Given the description of an element on the screen output the (x, y) to click on. 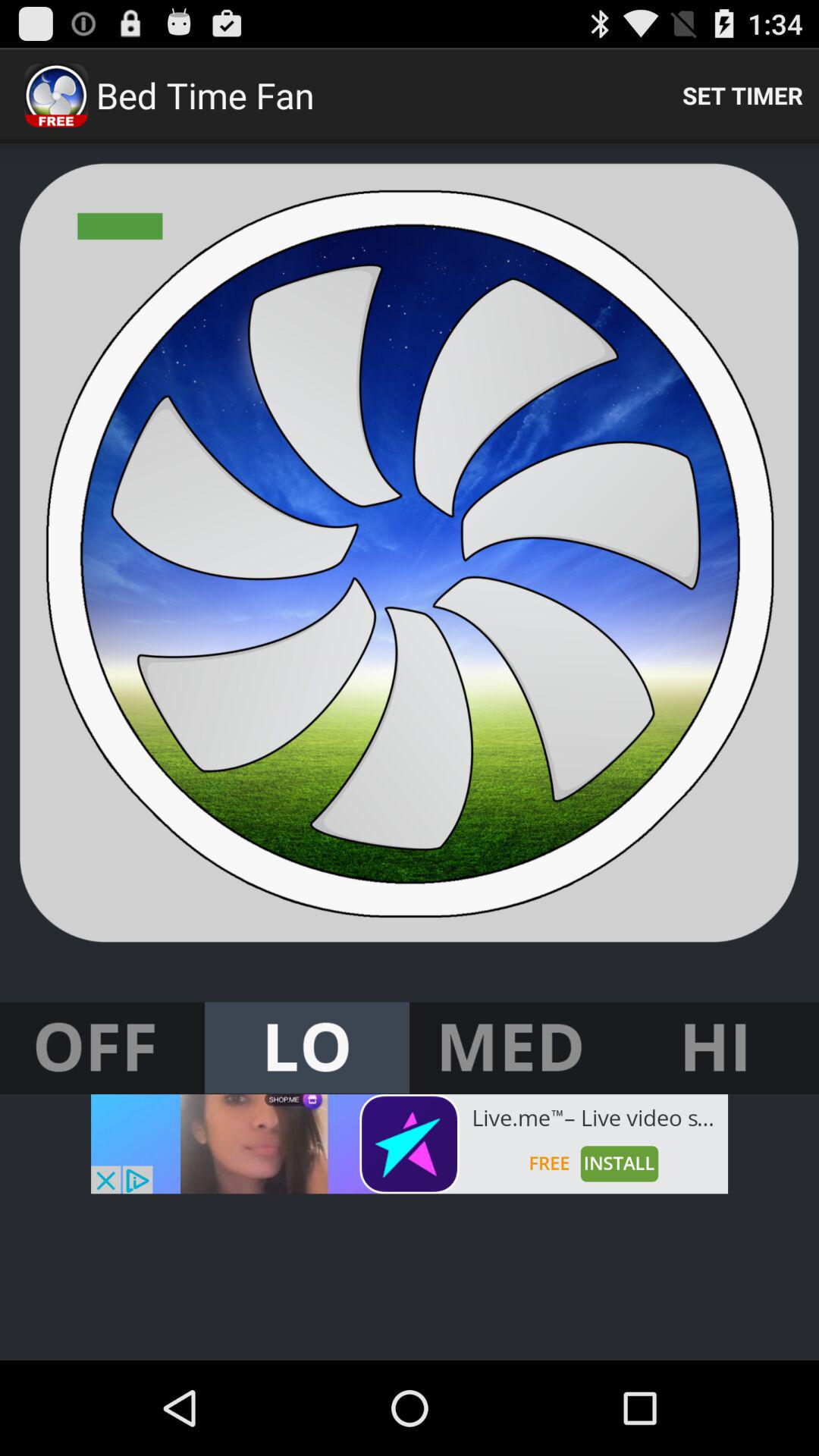
turn off (102, 1048)
